Given the description of an element on the screen output the (x, y) to click on. 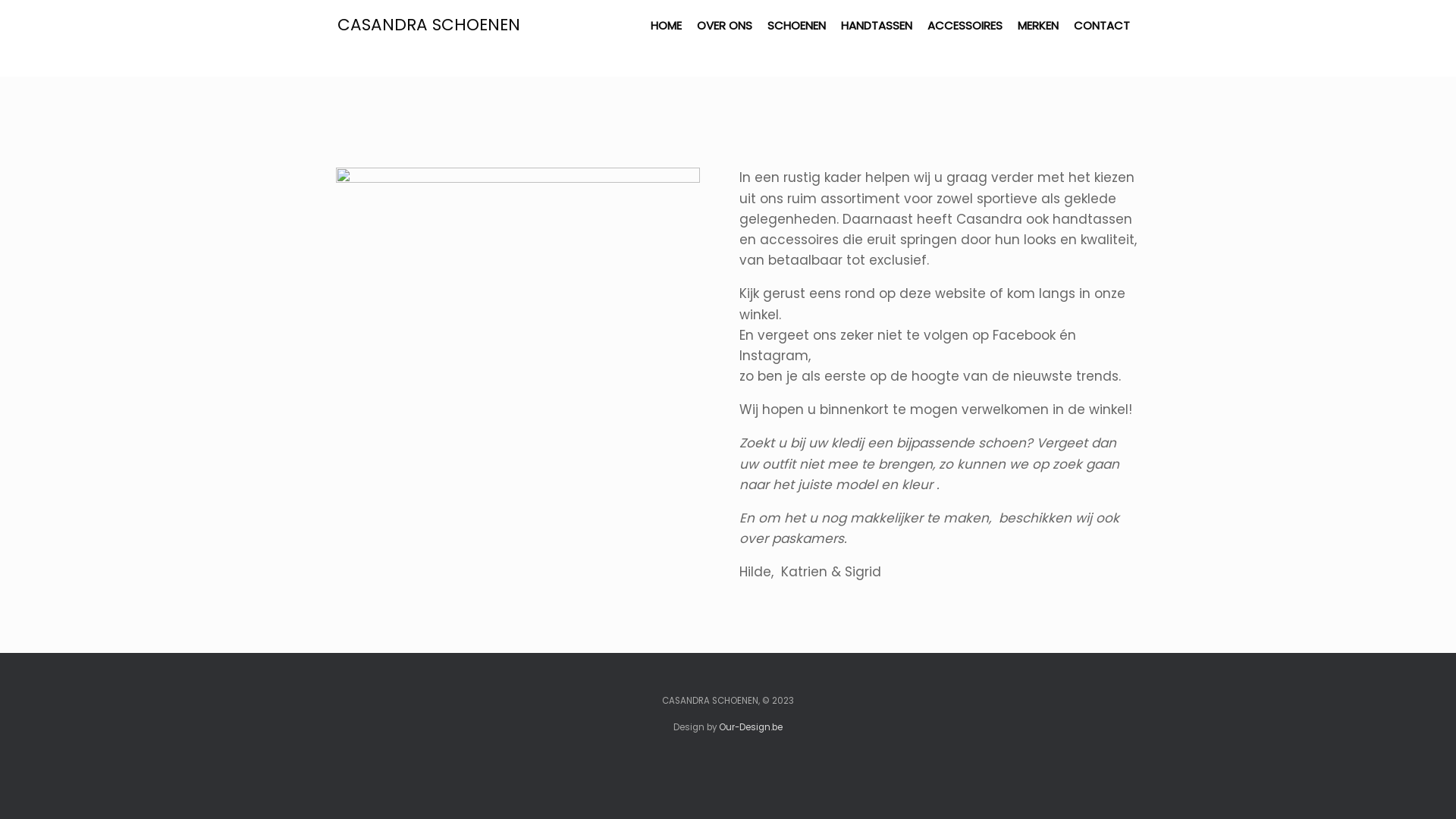
HANDTASSEN Element type: text (876, 25)
Our-Design.be Element type: text (750, 727)
MERKEN Element type: text (1038, 25)
CASANDRA SCHOENEN Element type: text (428, 25)
OVER ONS Element type: text (724, 25)
ACCESSOIRES Element type: text (964, 25)
over ons Element type: hover (517, 409)
HOME Element type: text (666, 25)
CONTACT Element type: text (1101, 25)
SCHOENEN Element type: text (796, 25)
